Given the description of an element on the screen output the (x, y) to click on. 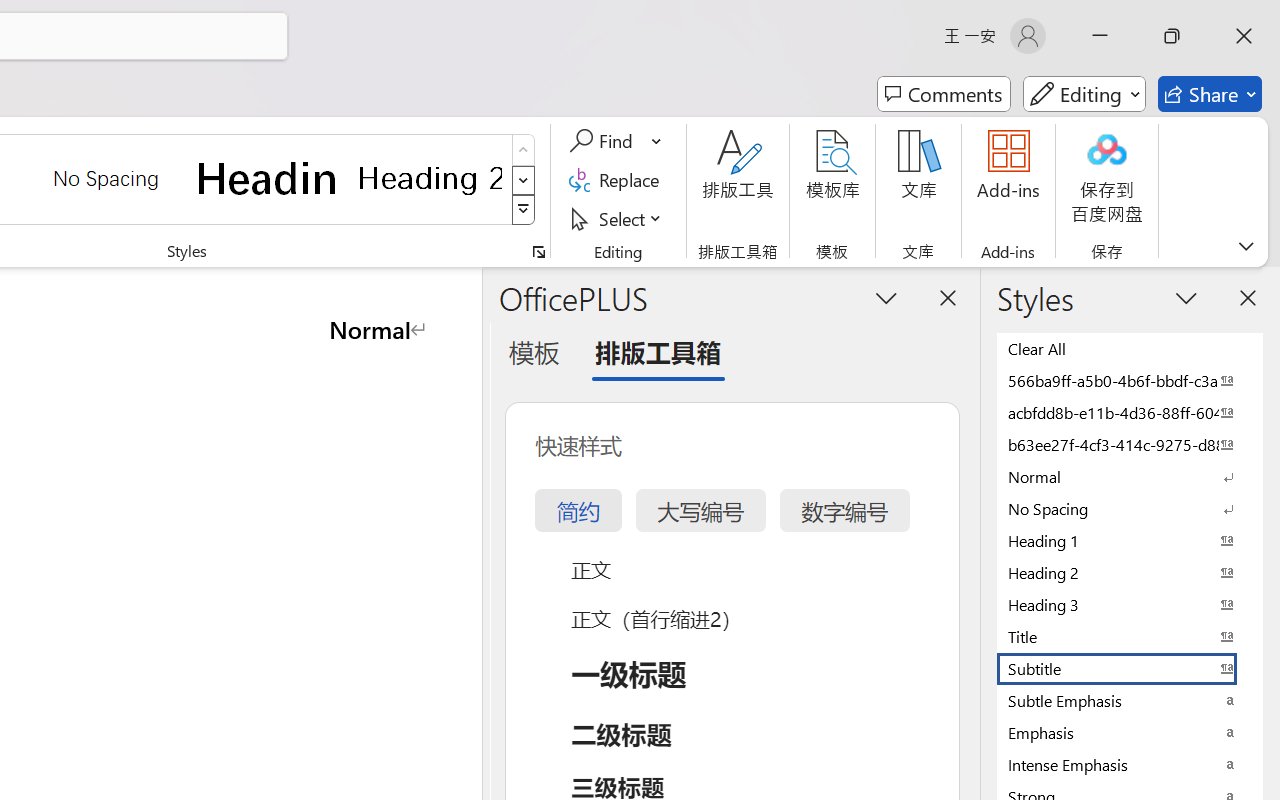
b63ee27f-4cf3-414c-9275-d88e3f90795e (1130, 444)
Subtitle (1130, 668)
Select (618, 218)
Mode (1083, 94)
566ba9ff-a5b0-4b6f-bbdf-c3ab41993fc2 (1130, 380)
Styles... (538, 252)
Heading 3 (1130, 604)
